Given the description of an element on the screen output the (x, y) to click on. 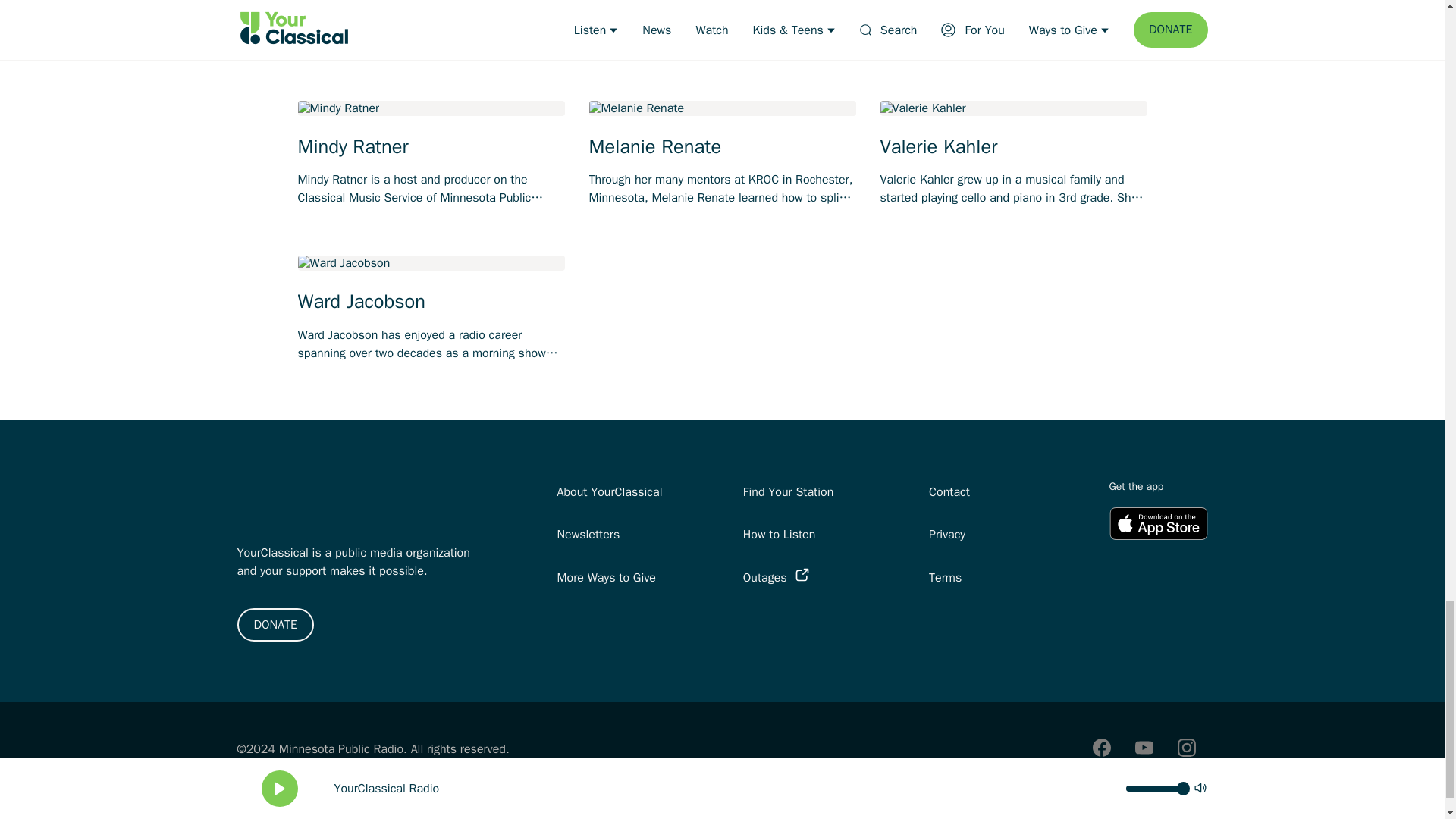
Melissa Ousley (1013, 2)
Kevin O'Connor (722, 2)
Scott Blankenship (430, 2)
Ward Jacobson (430, 301)
Valerie Kahler (1013, 146)
Melanie Renate (722, 146)
Mindy Ratner (430, 146)
